Given the description of an element on the screen output the (x, y) to click on. 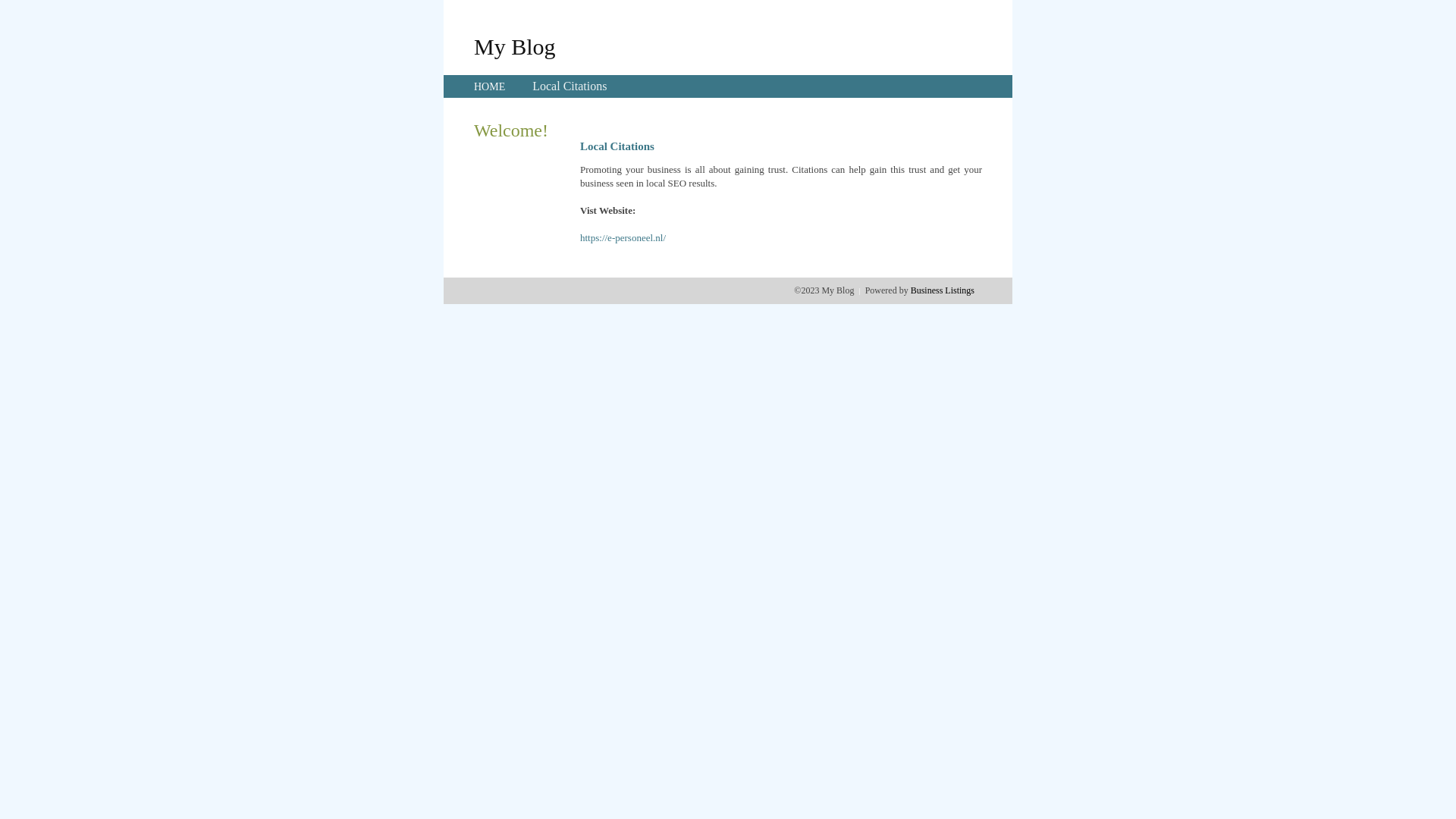
My Blog Element type: text (514, 46)
Business Listings Element type: text (942, 290)
Local Citations Element type: text (569, 85)
https://e-personeel.nl/ Element type: text (622, 237)
HOME Element type: text (489, 86)
